Given the description of an element on the screen output the (x, y) to click on. 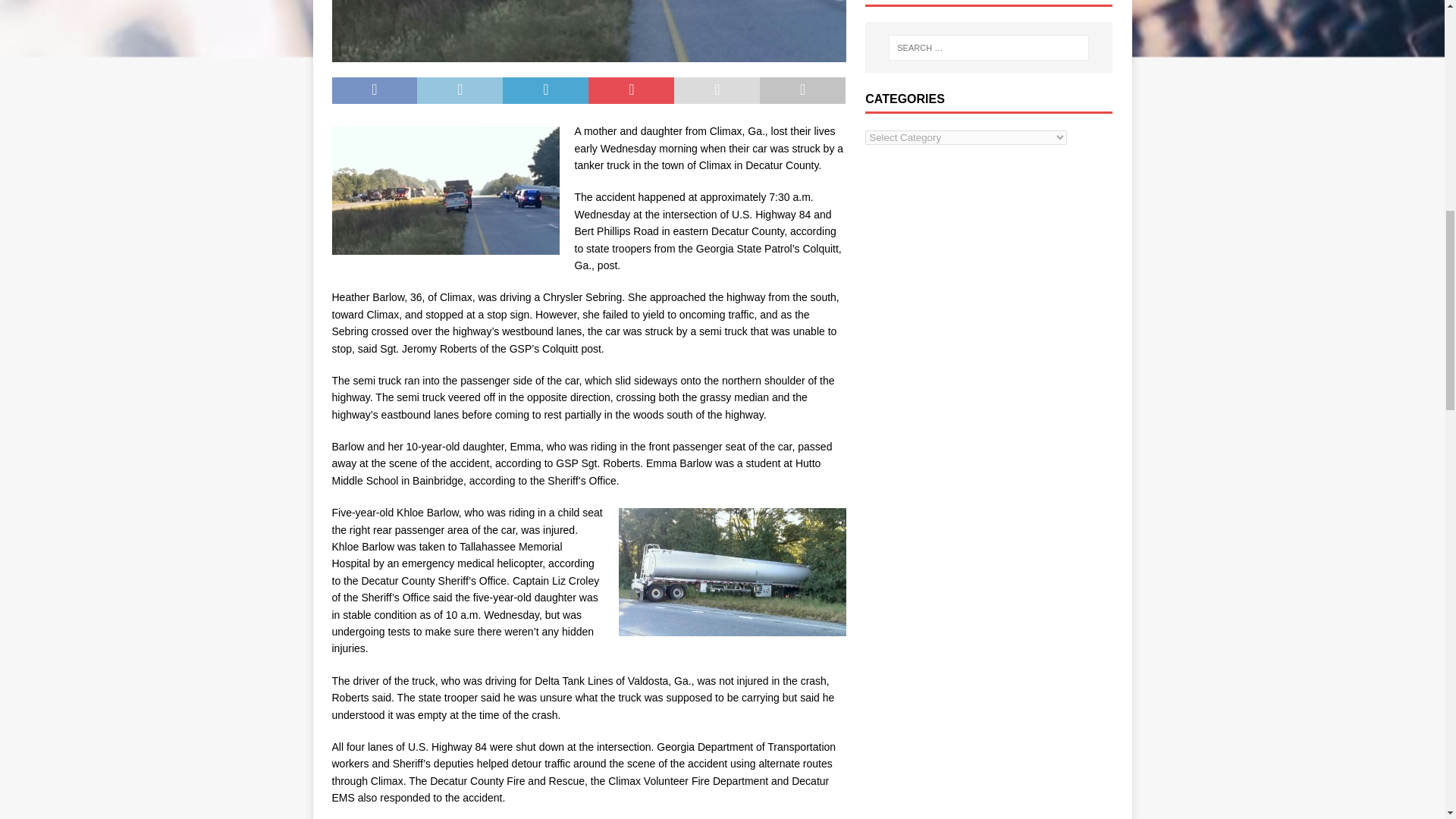
14139840792711 (588, 31)
